Given the description of an element on the screen output the (x, y) to click on. 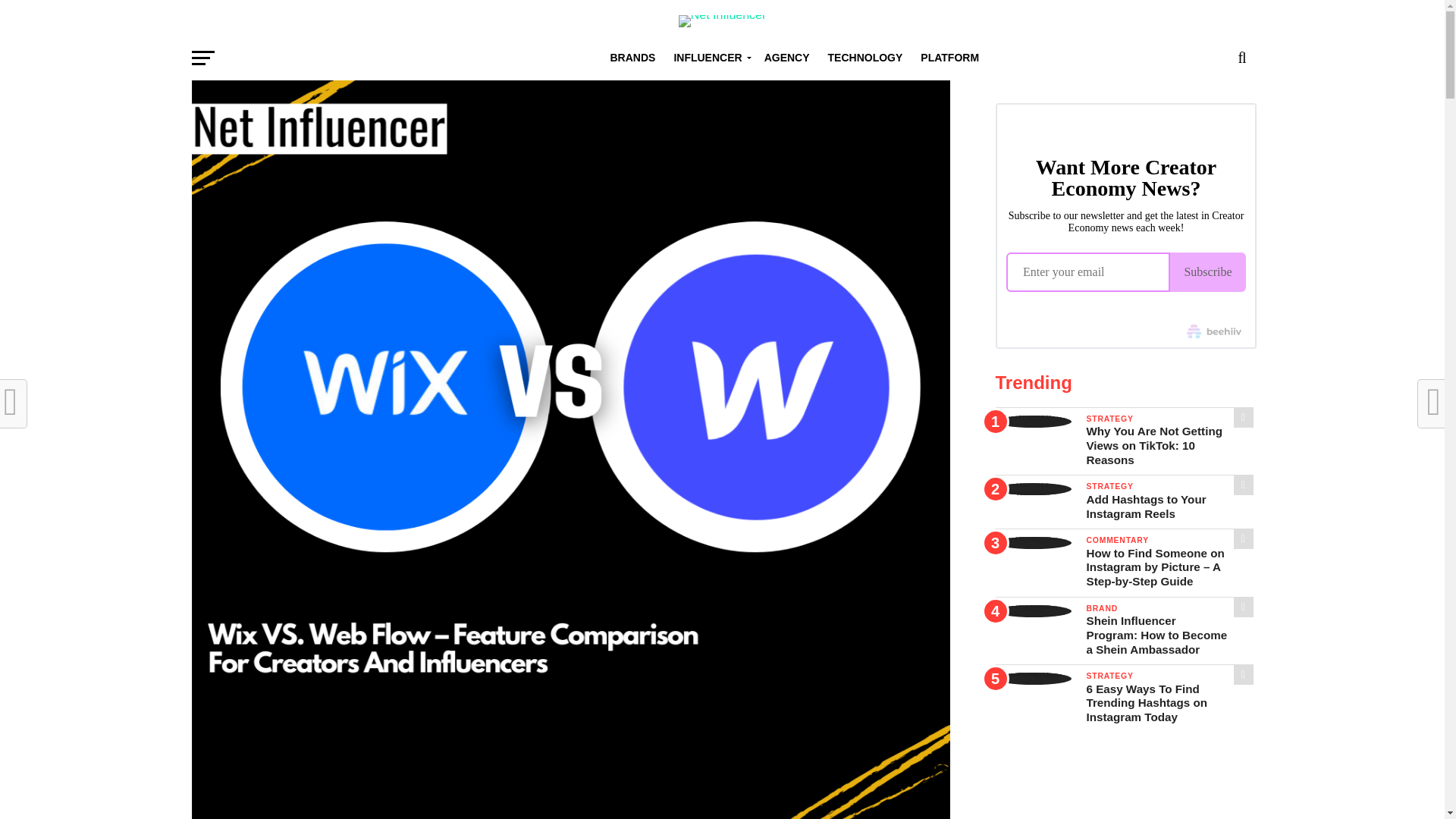
TECHNOLOGY (865, 57)
BRANDS (631, 57)
INFLUENCER (708, 57)
PLATFORM (949, 57)
AGENCY (786, 57)
